Given the description of an element on the screen output the (x, y) to click on. 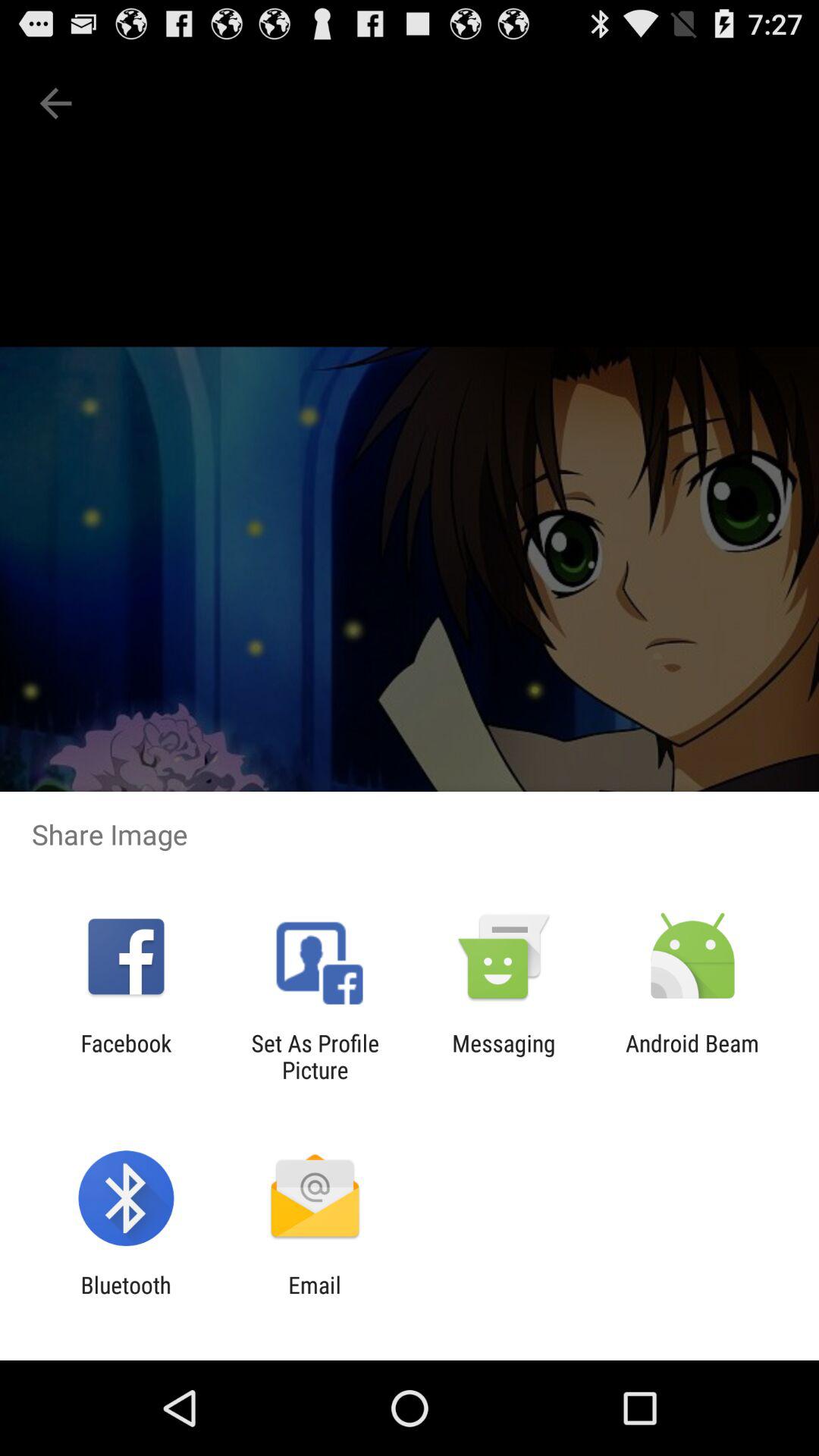
jump to set as profile item (314, 1056)
